Given the description of an element on the screen output the (x, y) to click on. 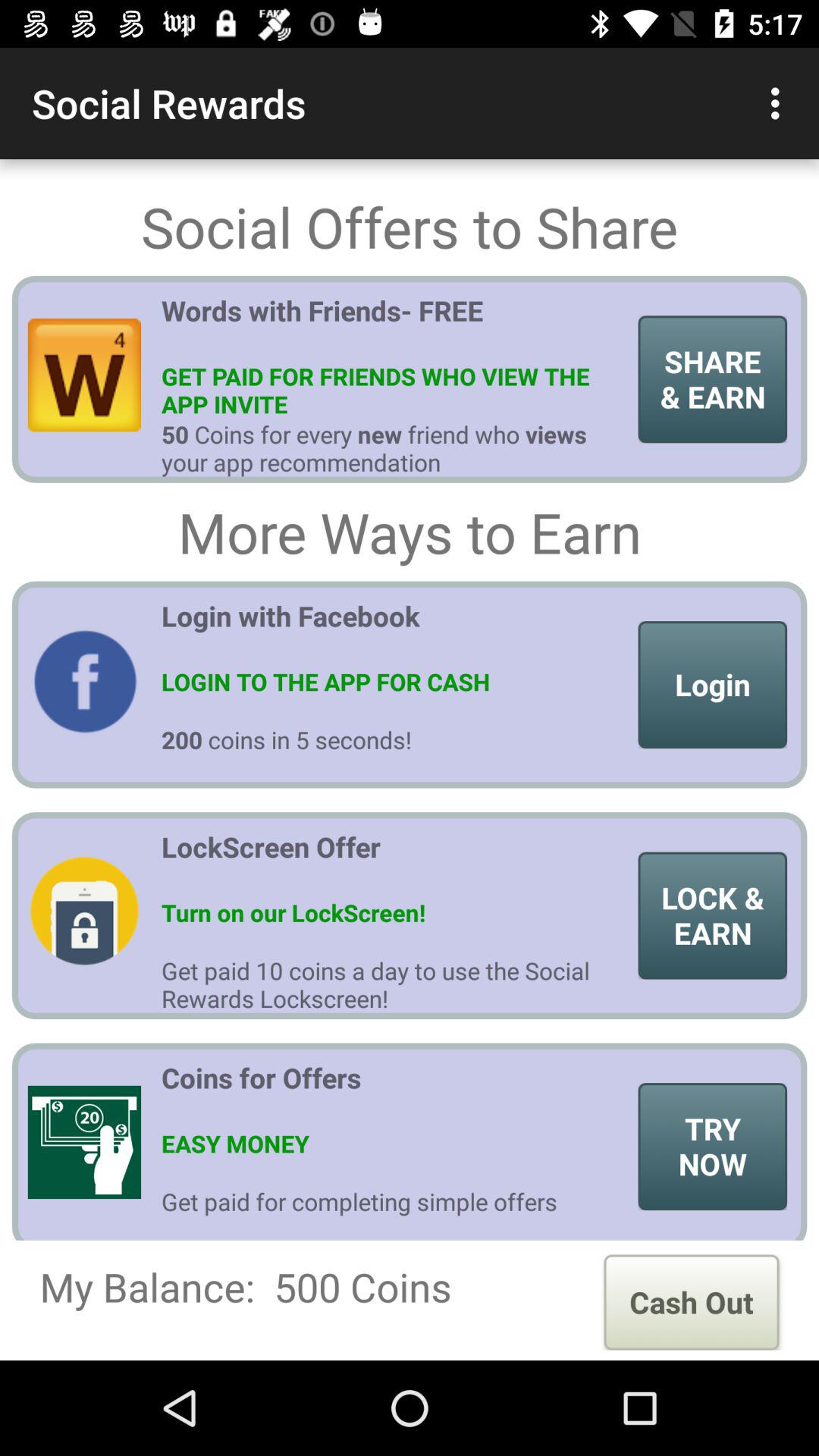
launch item below the get paid for item (691, 1302)
